Given the description of an element on the screen output the (x, y) to click on. 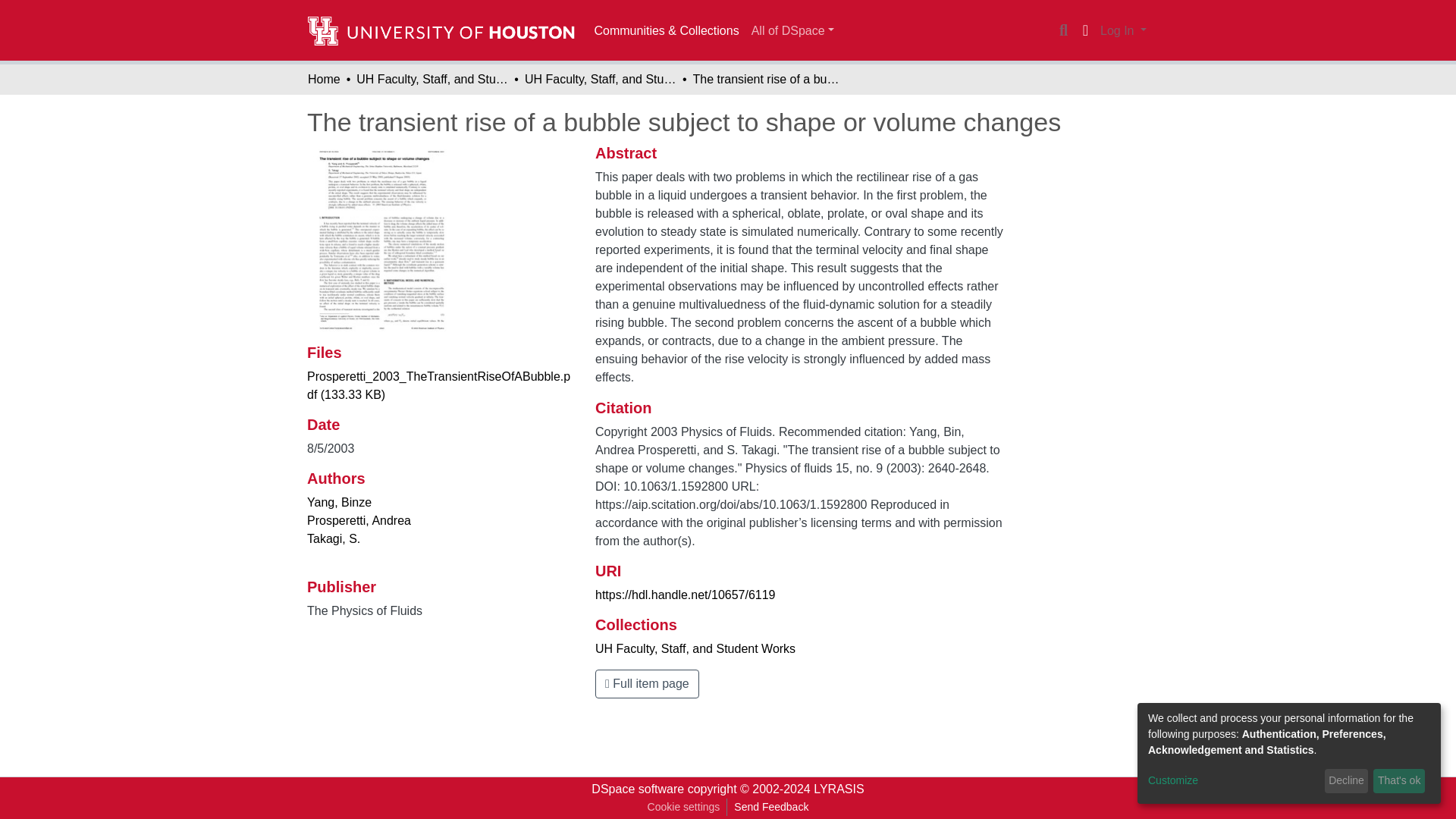
Yang, Binze (339, 502)
UH Faculty, Staff, and Student Works (432, 79)
Decline (1346, 781)
LYRASIS (838, 788)
Log In (1122, 30)
Customize (1233, 780)
Cookie settings (683, 806)
UH Faculty, Staff, and Student Works (600, 79)
That's ok (1399, 781)
Search (1063, 30)
UH Faculty, Staff, and Student Works (694, 648)
Full item page (646, 683)
Prosperetti, Andrea (358, 520)
Home (323, 79)
DSpace software (637, 788)
